Given the description of an element on the screen output the (x, y) to click on. 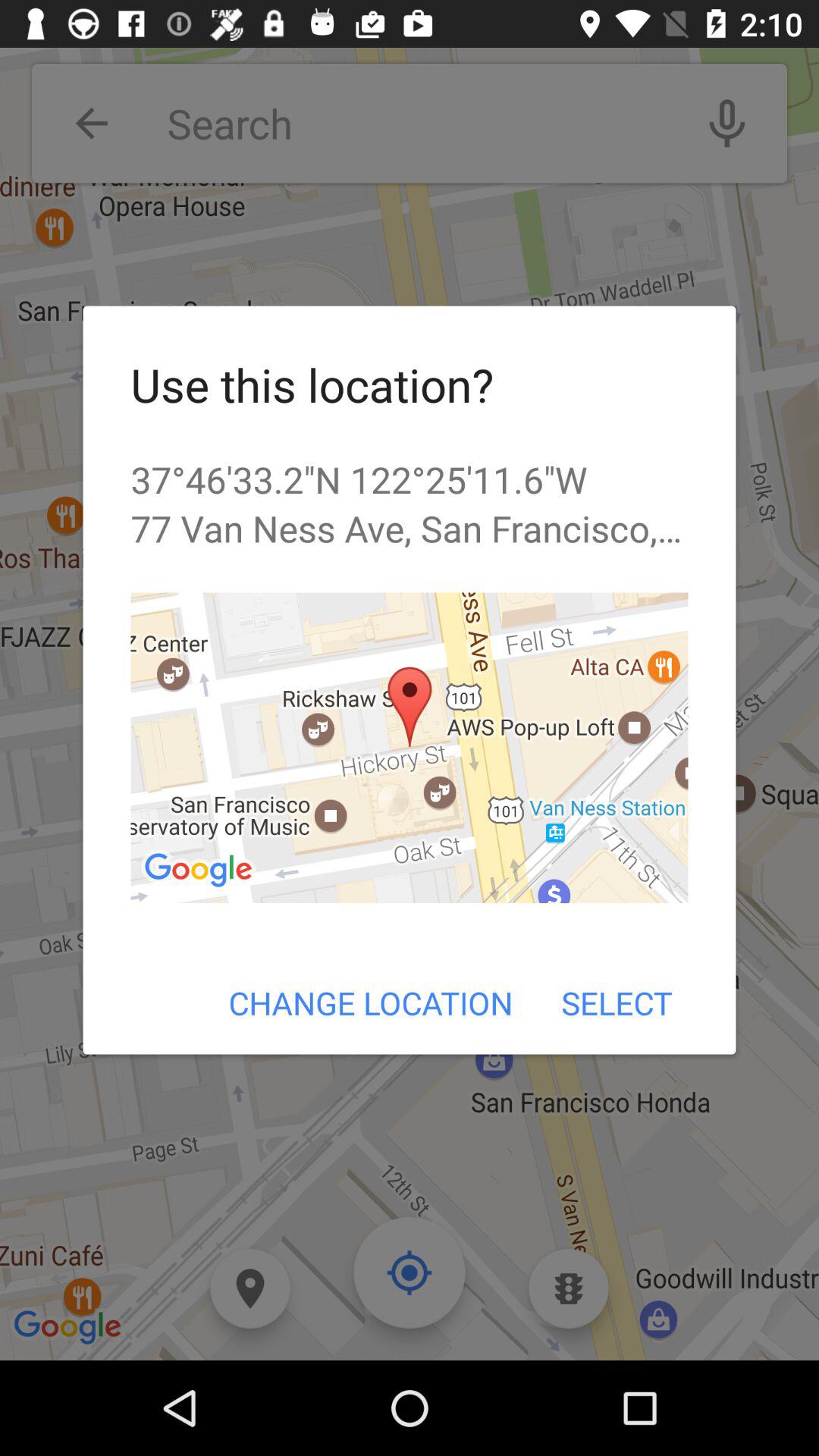
flip until the select (616, 1002)
